Given the description of an element on the screen output the (x, y) to click on. 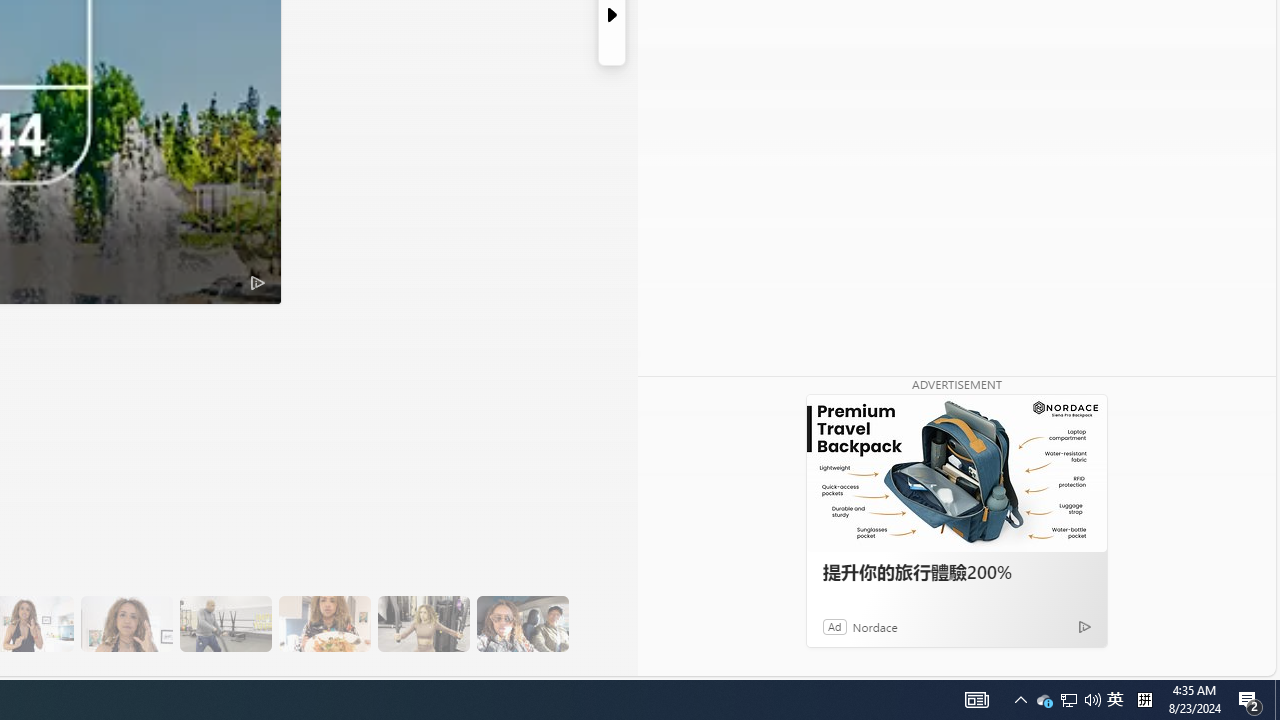
16 The Couple's Program Helps with Accountability (522, 624)
